Given the description of an element on the screen output the (x, y) to click on. 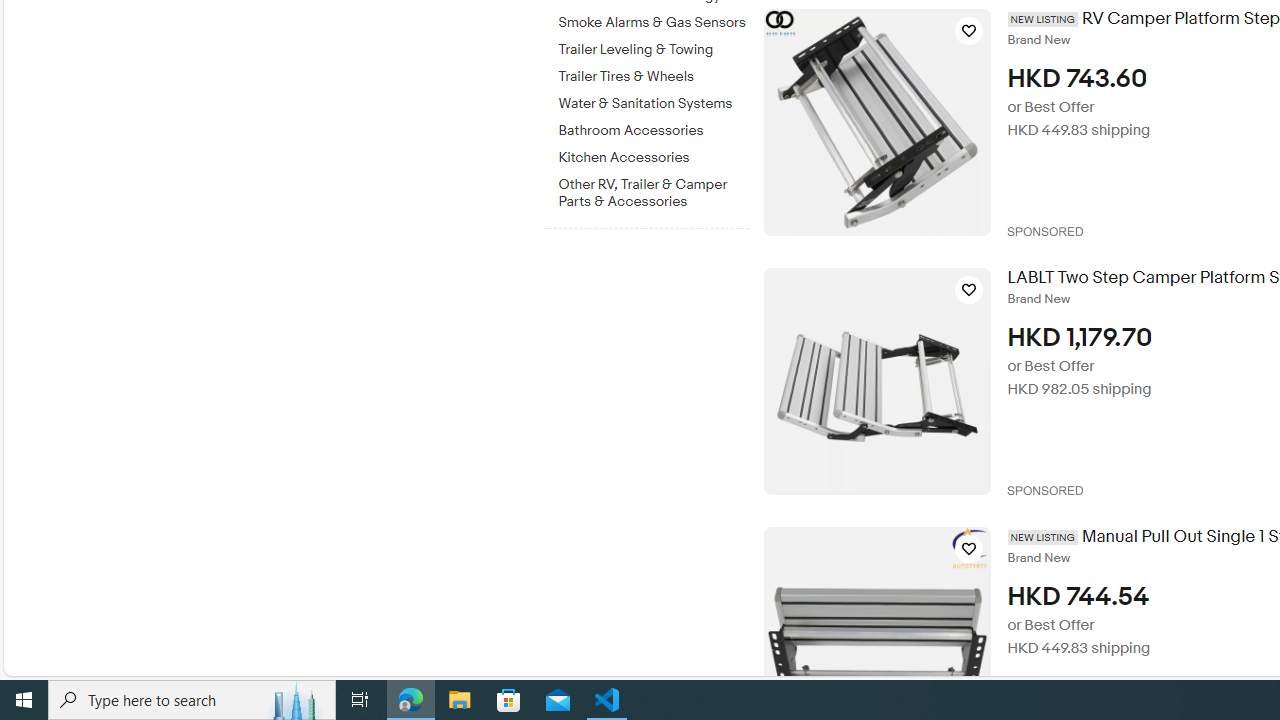
Trailer Leveling & Towing (653, 50)
Trailer Leveling & Towing (653, 46)
